Given the description of an element on the screen output the (x, y) to click on. 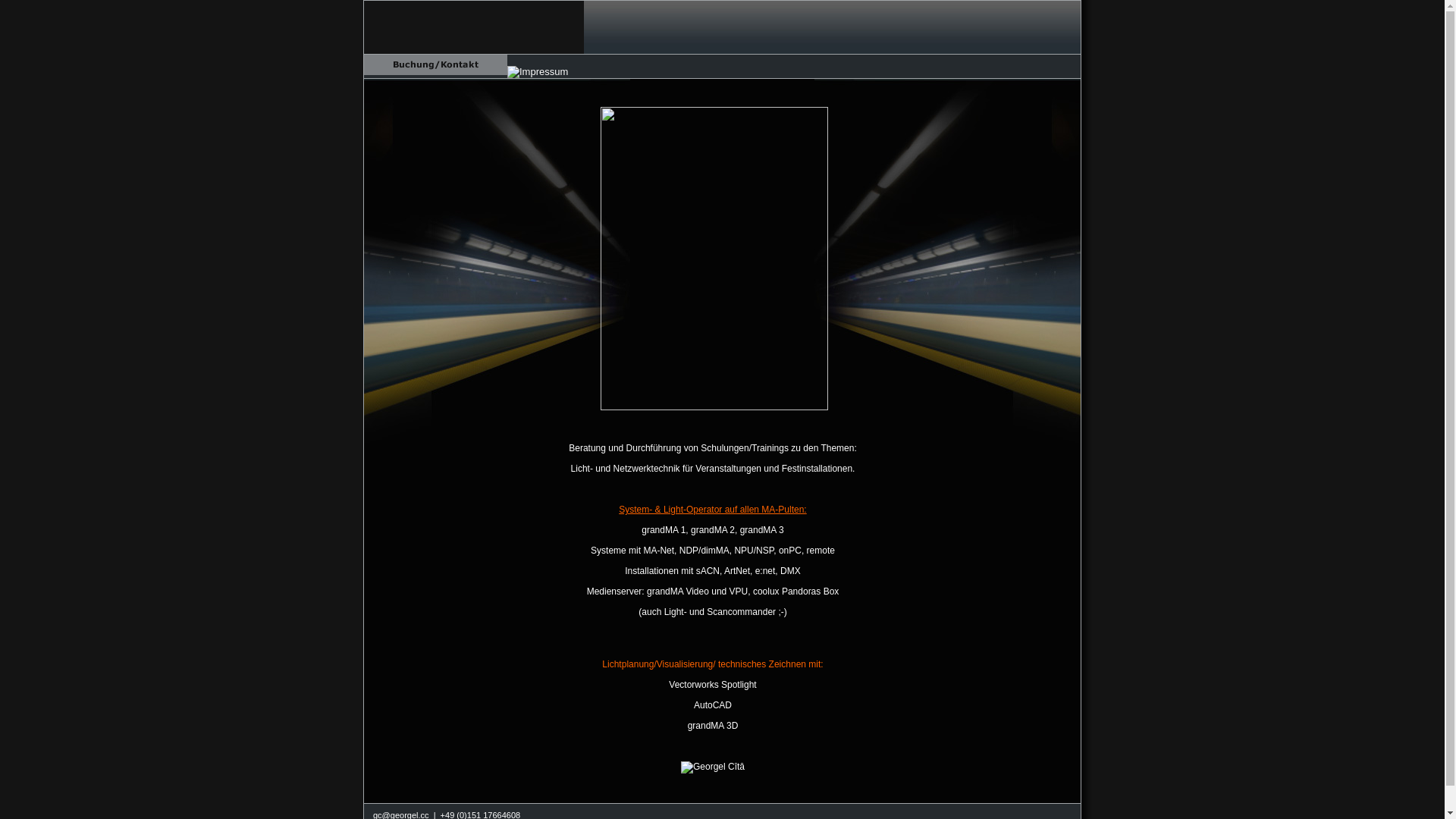
Buchung/Kontakt Element type: hover (435, 64)
System- & Light-Operator auf allen MA-Pulten: Element type: text (712, 508)
grandMA 3D Element type: text (712, 725)
Vectorworks Spotlight Element type: text (712, 684)
Impressum Element type: hover (537, 71)
AutoCAD Element type: text (712, 704)
